Given the description of an element on the screen output the (x, y) to click on. 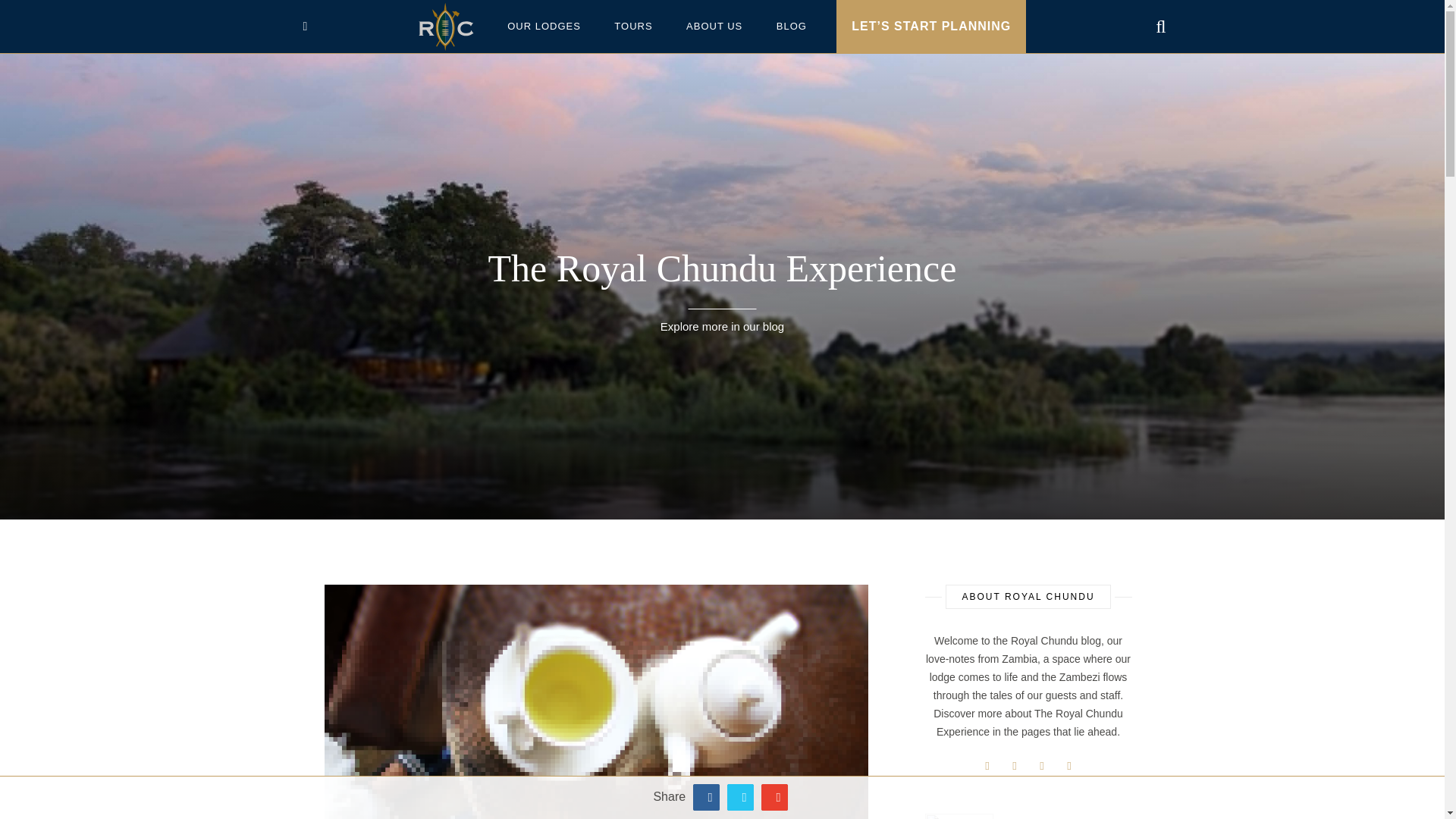
LOGO (446, 26)
ABOUT US (714, 26)
OUR LODGES (543, 26)
BLOG (791, 26)
TOURS (632, 26)
